Given the description of an element on the screen output the (x, y) to click on. 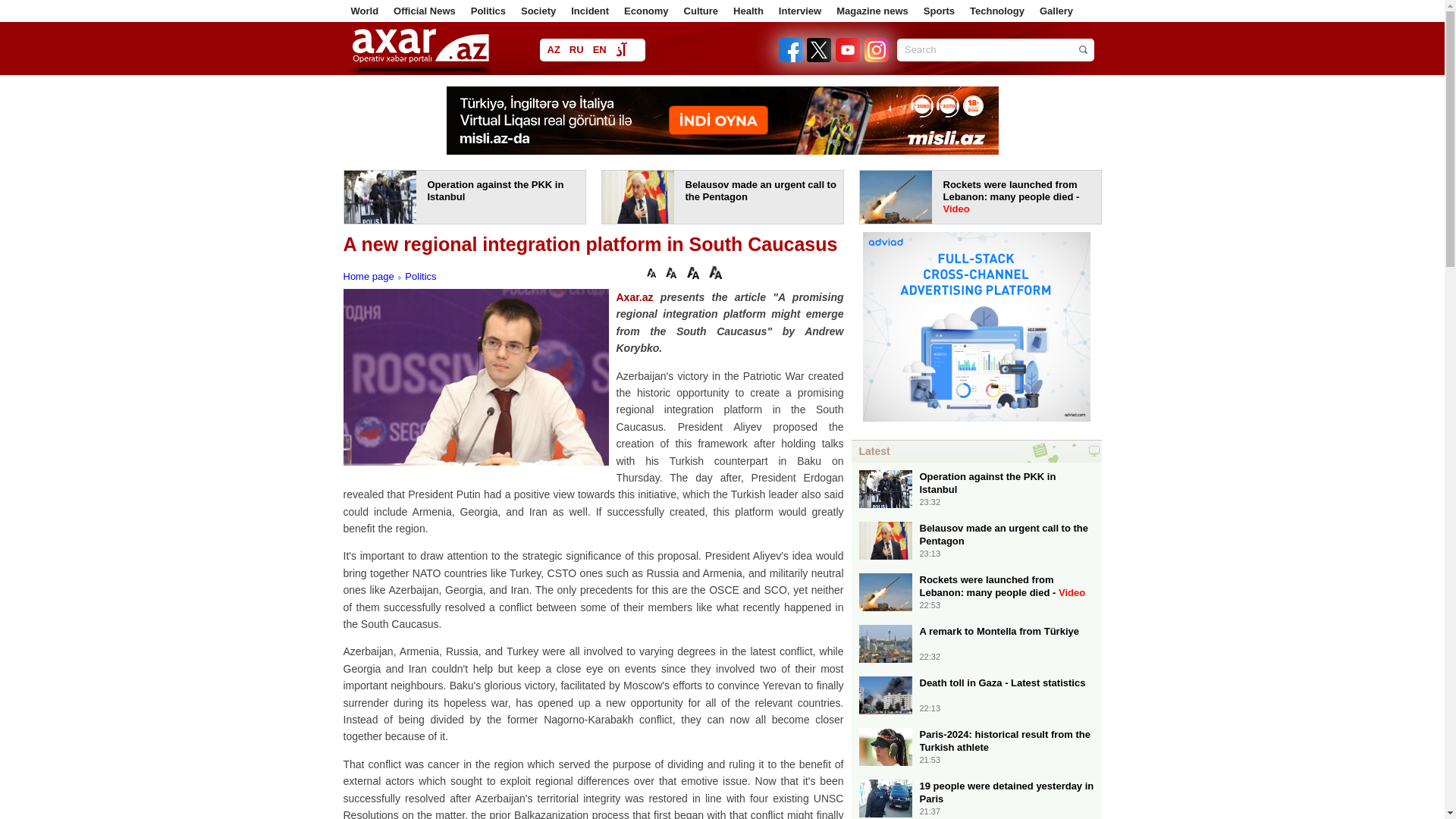
Search (994, 49)
World (364, 10)
Incident (589, 10)
Interview (799, 10)
Economy (646, 10)
Politics (487, 10)
Gallery (1056, 10)
Twitter (819, 58)
Facebook (791, 58)
Official News (424, 10)
Society (538, 10)
Youtube (848, 58)
Home page (367, 275)
Health (747, 10)
Instagram (875, 58)
